Given the description of an element on the screen output the (x, y) to click on. 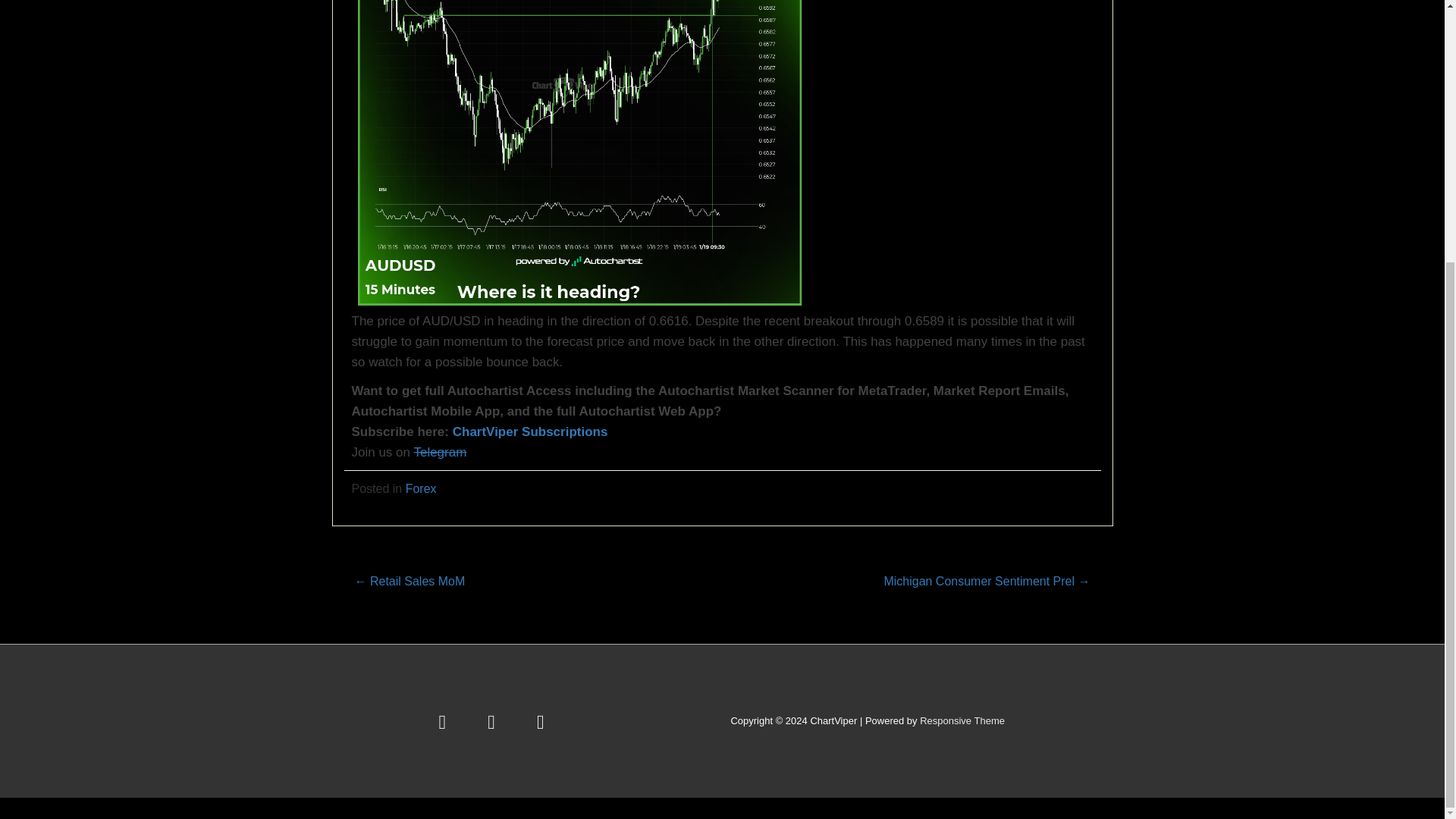
Forex (421, 488)
twitter (446, 720)
ChartViper Subscriptions (530, 431)
Telegram (439, 452)
facebook (496, 720)
youtube (541, 720)
